Given the description of an element on the screen output the (x, y) to click on. 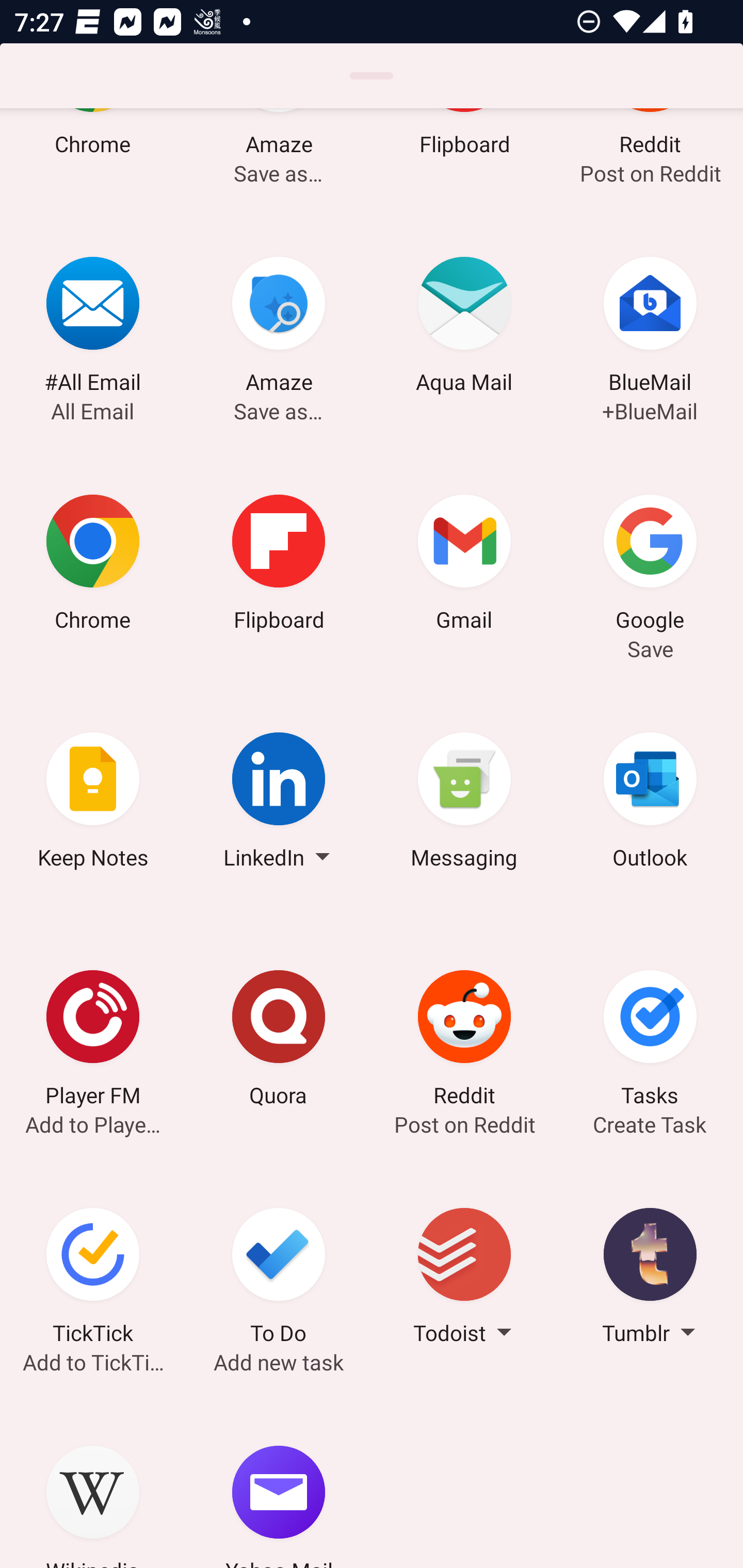
#All Email All Email (92, 328)
Amaze Save as… (278, 328)
Aqua Mail (464, 328)
BlueMail +BlueMail (650, 328)
Chrome (92, 565)
Flipboard (278, 565)
Gmail (464, 565)
Google Save (650, 565)
Keep Notes (92, 803)
LinkedIn (278, 803)
Messaging (464, 803)
Outlook (650, 803)
Player FM Add to Player FM (92, 1040)
Quora (278, 1040)
Reddit Post on Reddit (464, 1040)
Tasks Create Task (650, 1040)
TickTick Add to TickTick (92, 1279)
To Do Add new task (278, 1279)
Todoist (464, 1279)
Tumblr (650, 1279)
Wikipedia (92, 1483)
Yahoo Mail (278, 1483)
